Given the description of an element on the screen output the (x, y) to click on. 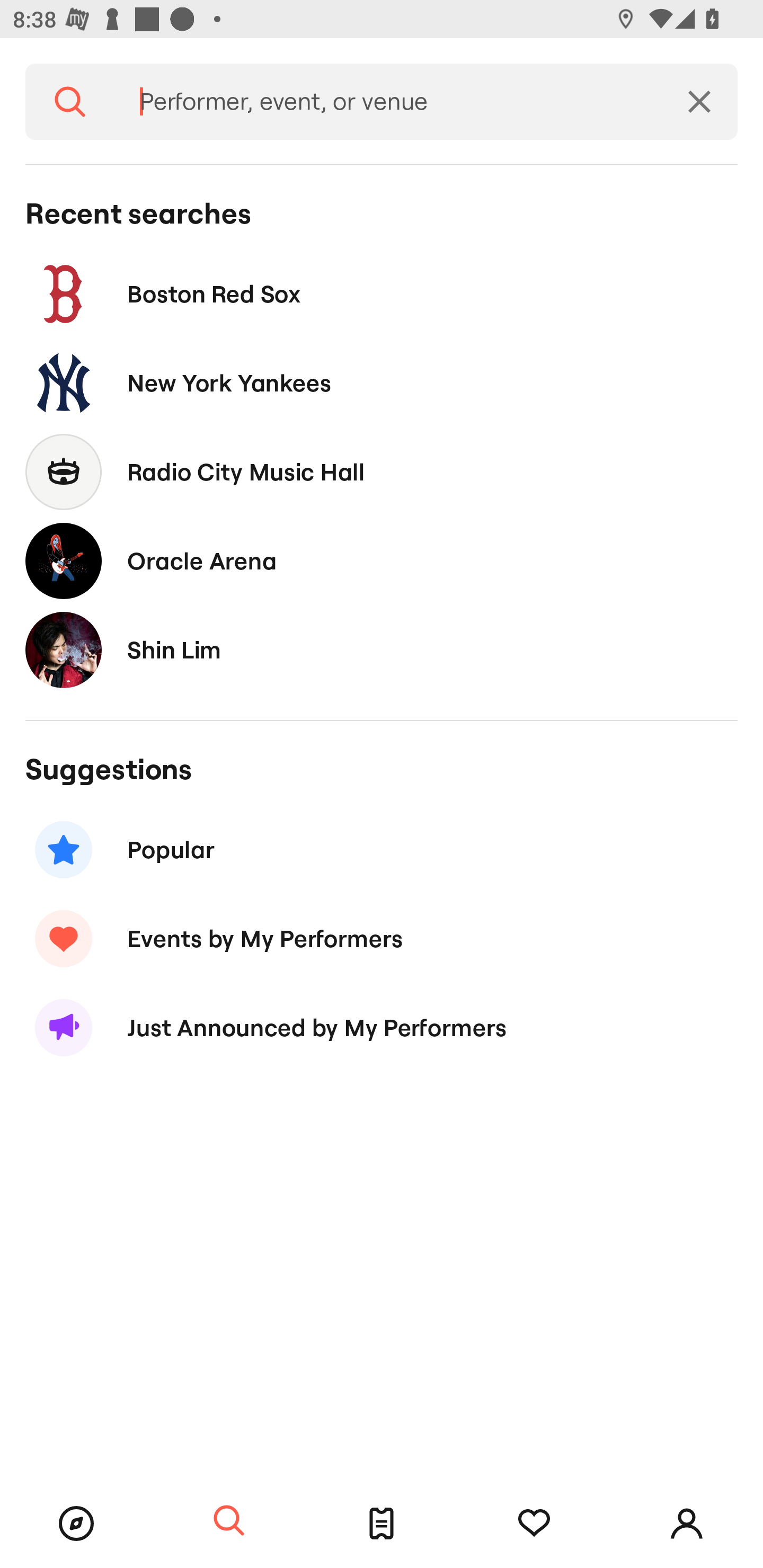
Search (69, 101)
Performer, event, or venue (387, 101)
Clear (699, 101)
Boston Red Sox (381, 293)
New York Yankees (381, 383)
Radio City Music Hall (381, 471)
Oracle Arena (381, 560)
Shin Lim (381, 649)
Popular (381, 849)
Events by My Performers (381, 938)
Just Announced by My Performers (381, 1027)
Browse (76, 1523)
Search (228, 1521)
Tickets (381, 1523)
Tracking (533, 1523)
Account (686, 1523)
